Given the description of an element on the screen output the (x, y) to click on. 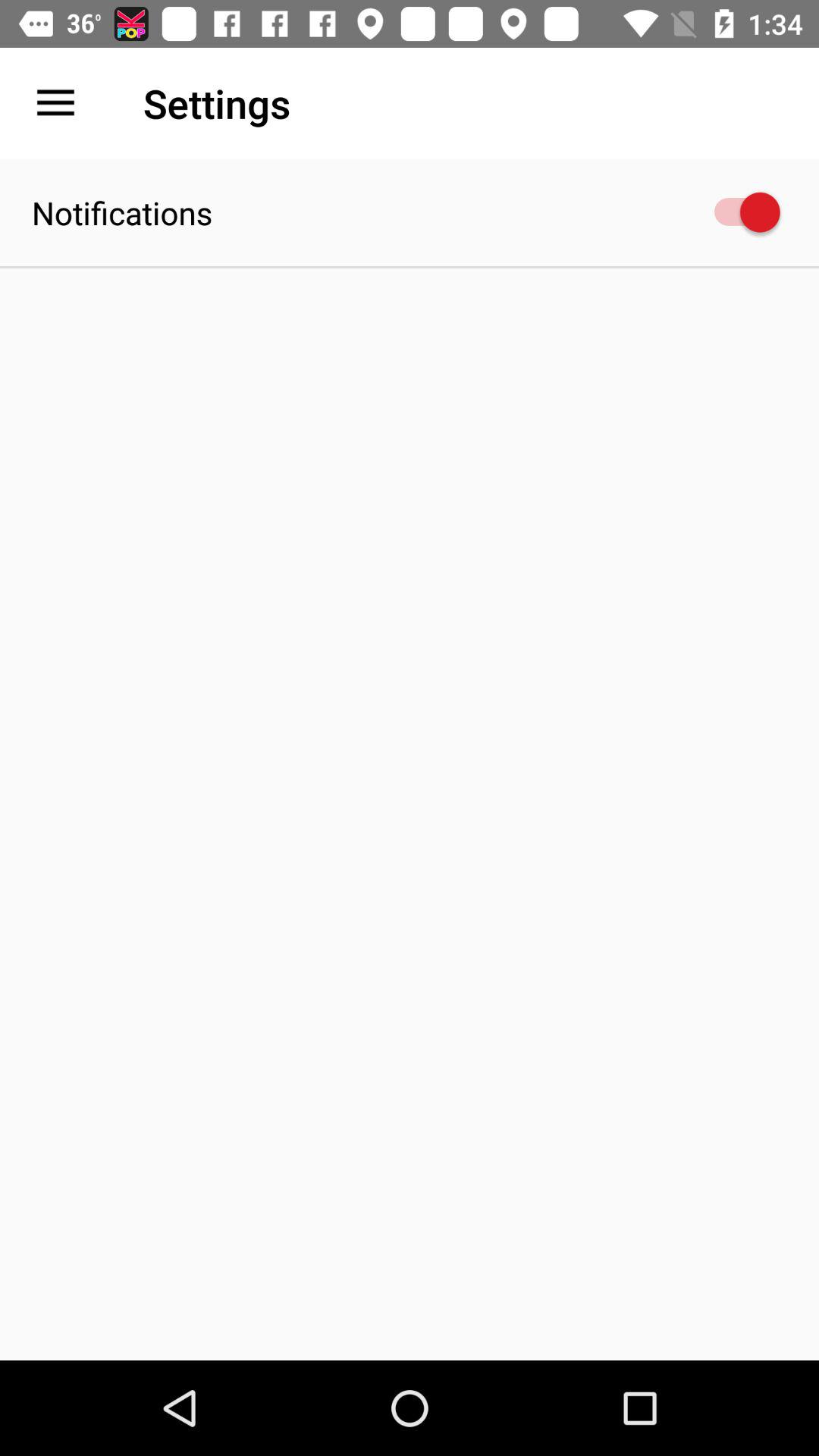
turn on the icon above the notifications icon (55, 103)
